Given the description of an element on the screen output the (x, y) to click on. 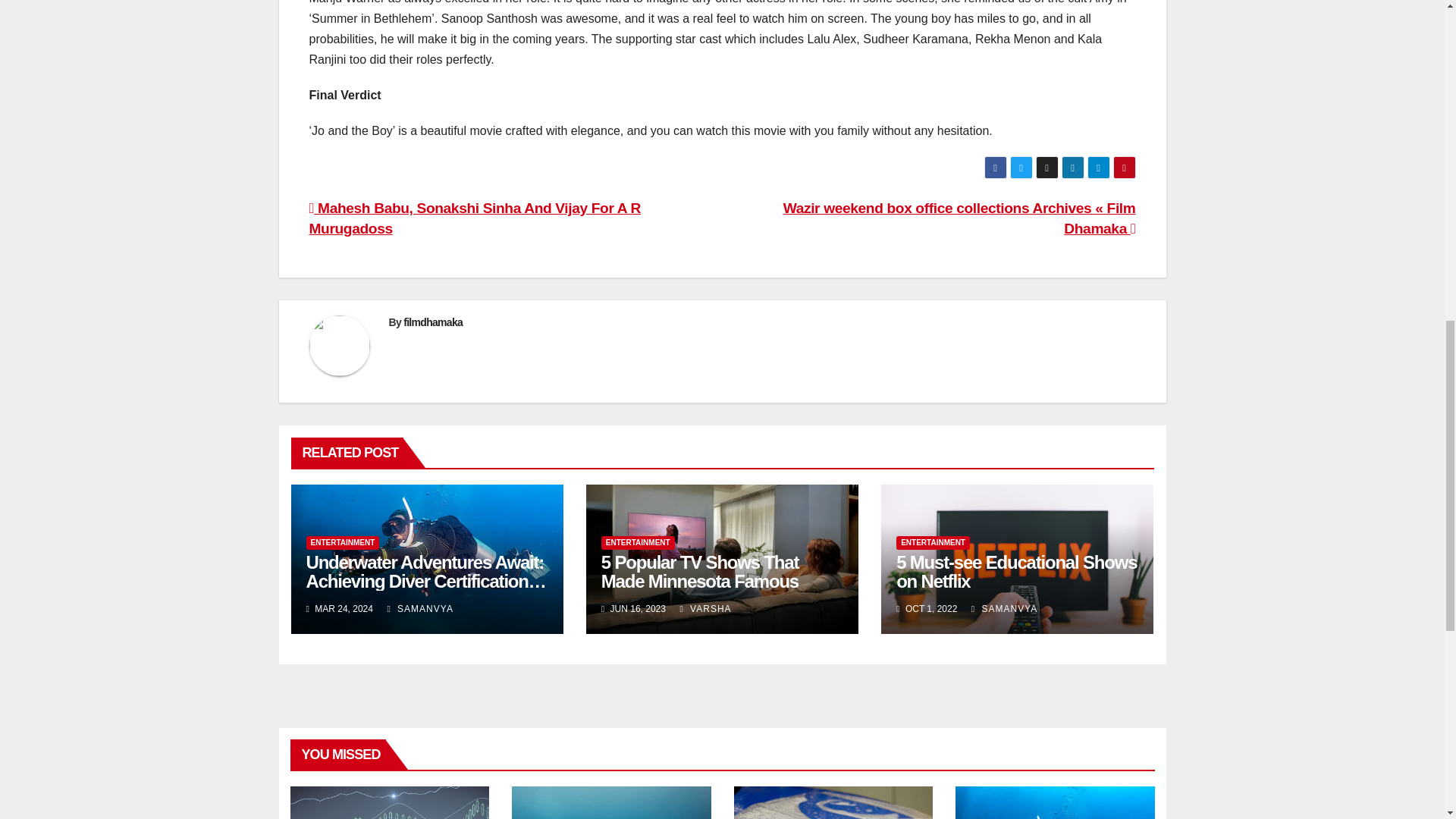
Mahesh Babu, Sonakshi Sinha And Vijay For A R Murugadoss (474, 217)
